Given the description of an element on the screen output the (x, y) to click on. 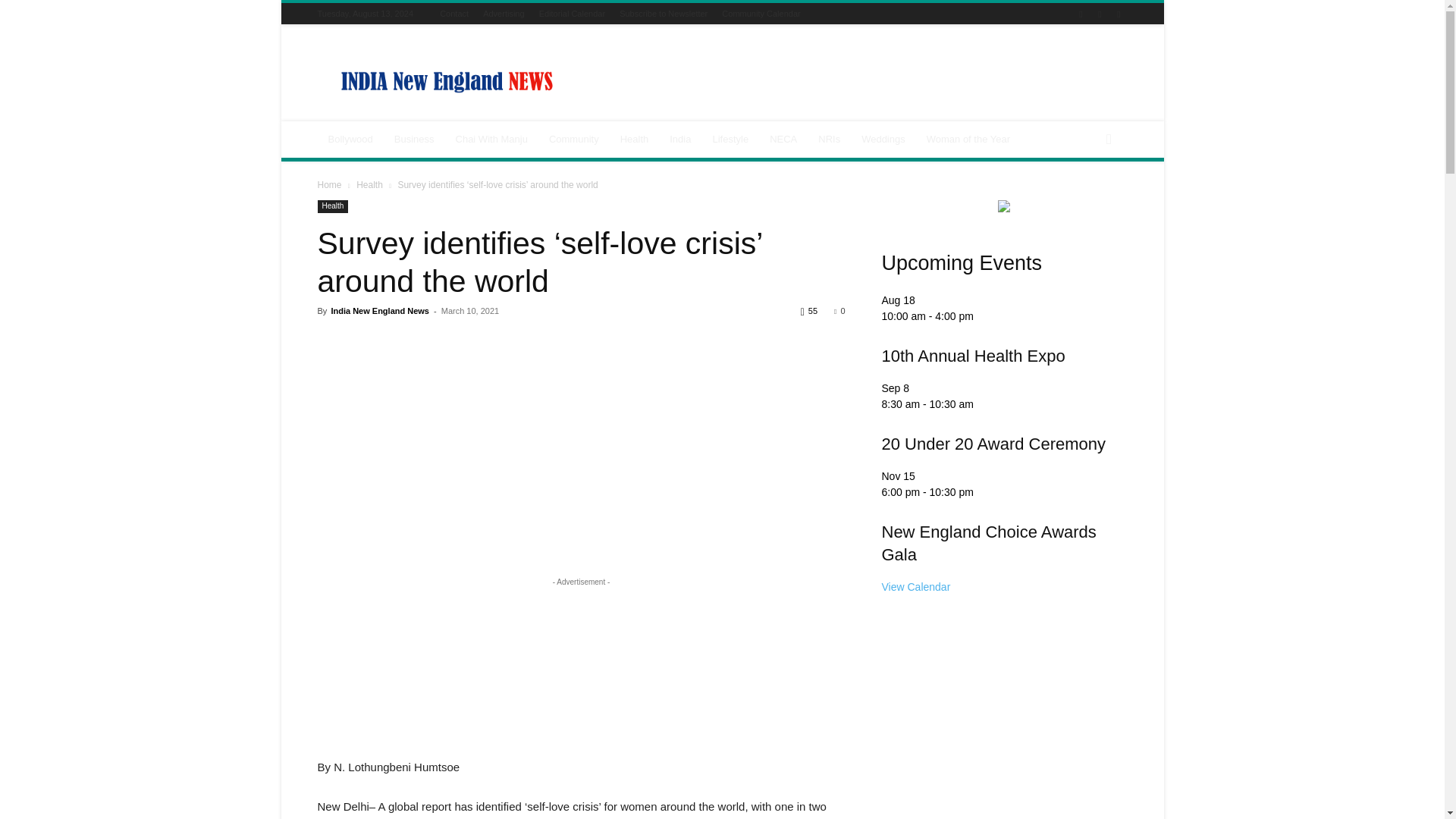
Lifestyle (729, 139)
Weddings (882, 139)
NECA (783, 139)
Health (634, 139)
Advertising (503, 13)
Contact (453, 13)
Subscribe to Newsletter (663, 13)
India (680, 139)
Community (574, 139)
View all posts in Health (369, 184)
